Given the description of an element on the screen output the (x, y) to click on. 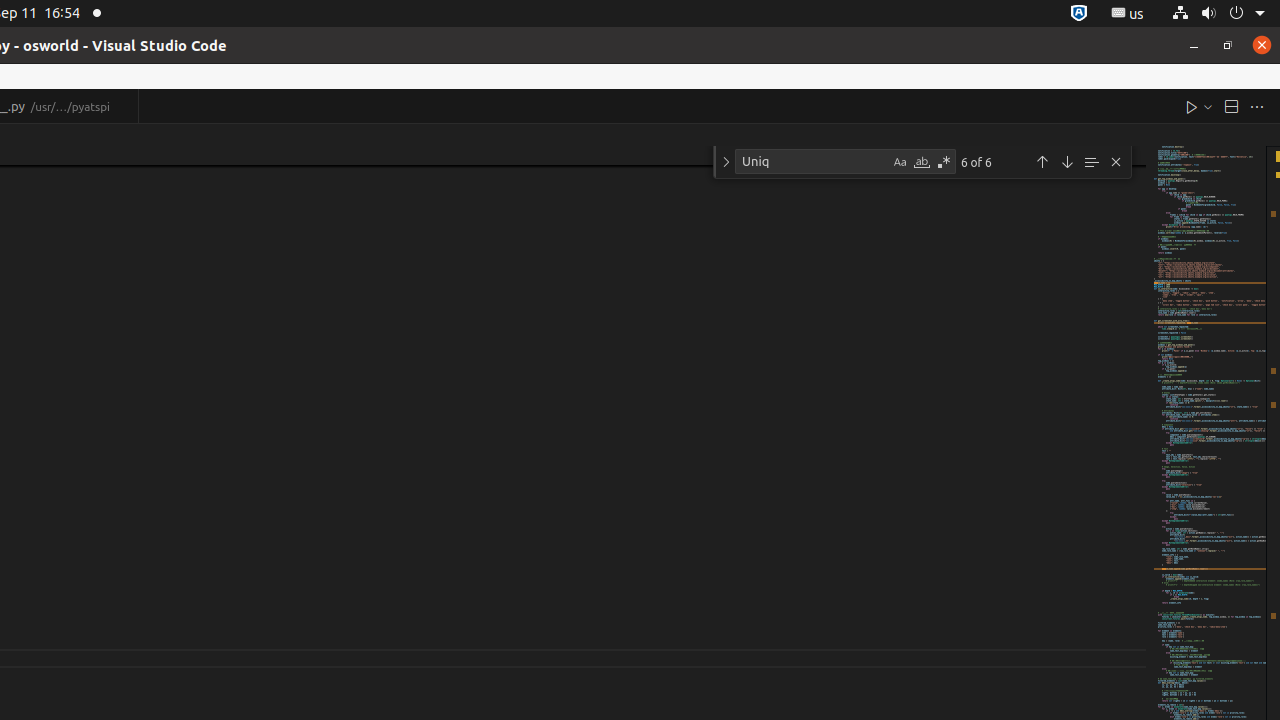
Match Whole Word (Alt+W) Element type: check-box (922, 162)
Next Match (Enter) Element type: push-button (1067, 161)
Toggle Replace Element type: push-button (726, 162)
Find in Selection (Alt+L) Element type: check-box (1091, 161)
